Given the description of an element on the screen output the (x, y) to click on. 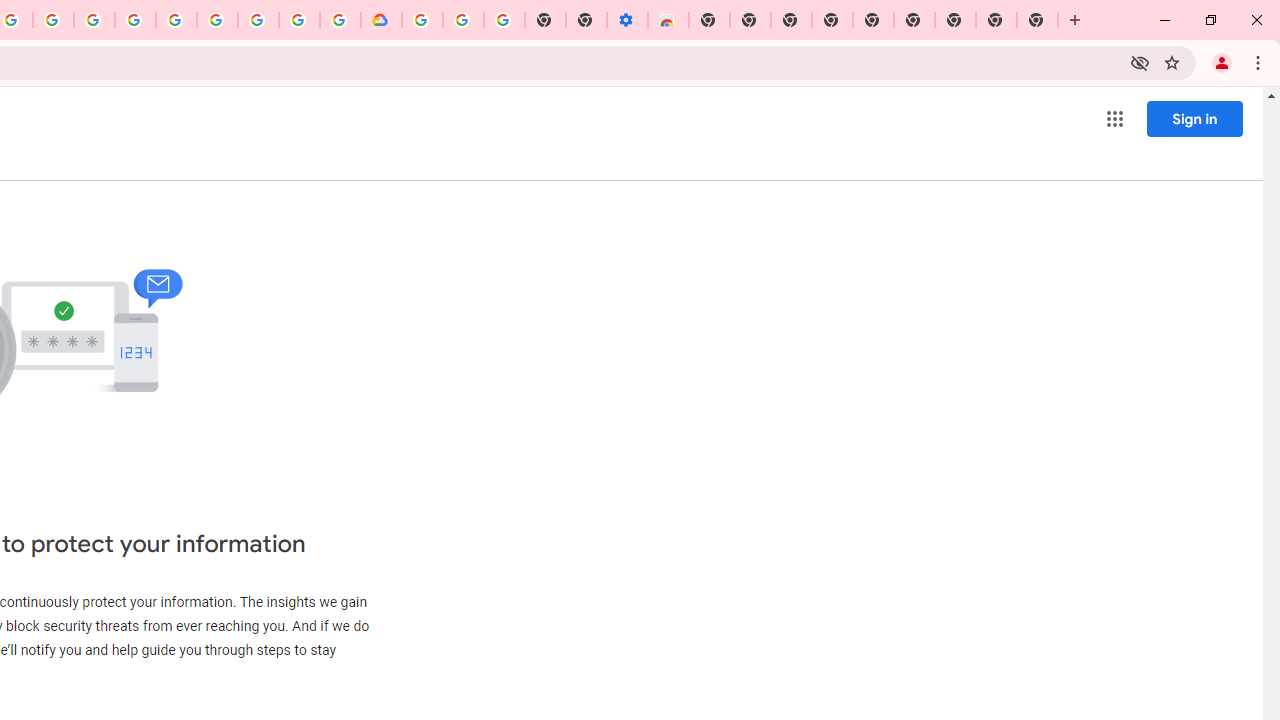
Turn cookies on or off - Computer - Google Account Help (503, 20)
Create your Google Account (299, 20)
New Tab (1037, 20)
Chrome Web Store - Accessibility extensions (667, 20)
Browse the Google Chrome Community - Google Chrome Community (340, 20)
